Given the description of an element on the screen output the (x, y) to click on. 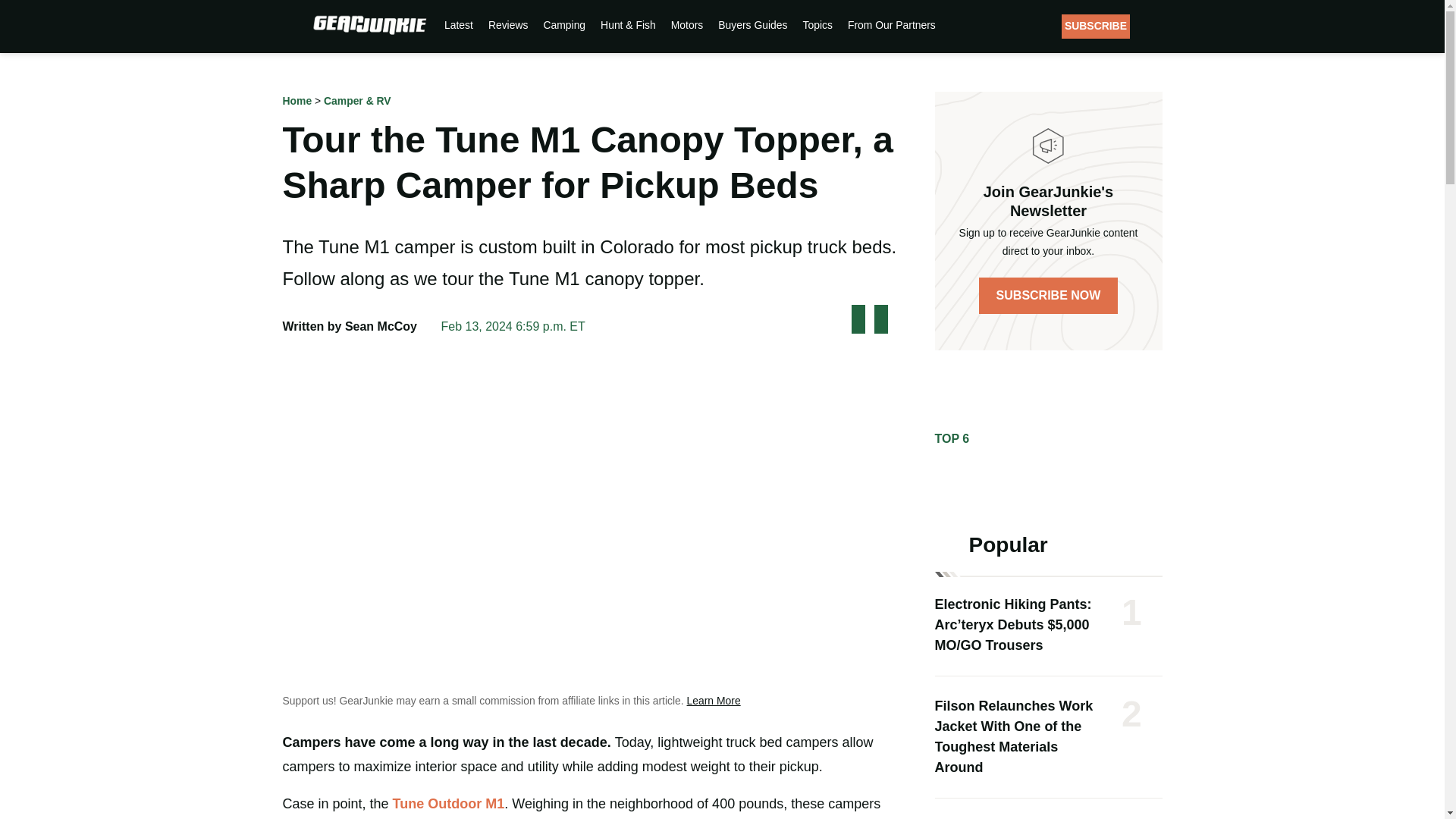
Latest (458, 24)
Buyers Guides (752, 24)
Topics (817, 24)
Camping (563, 24)
SUBSCRIBE (1095, 26)
Reviews (507, 24)
Posts by Sean McCoy (380, 326)
Motors (686, 24)
Search (1154, 26)
